Given the description of an element on the screen output the (x, y) to click on. 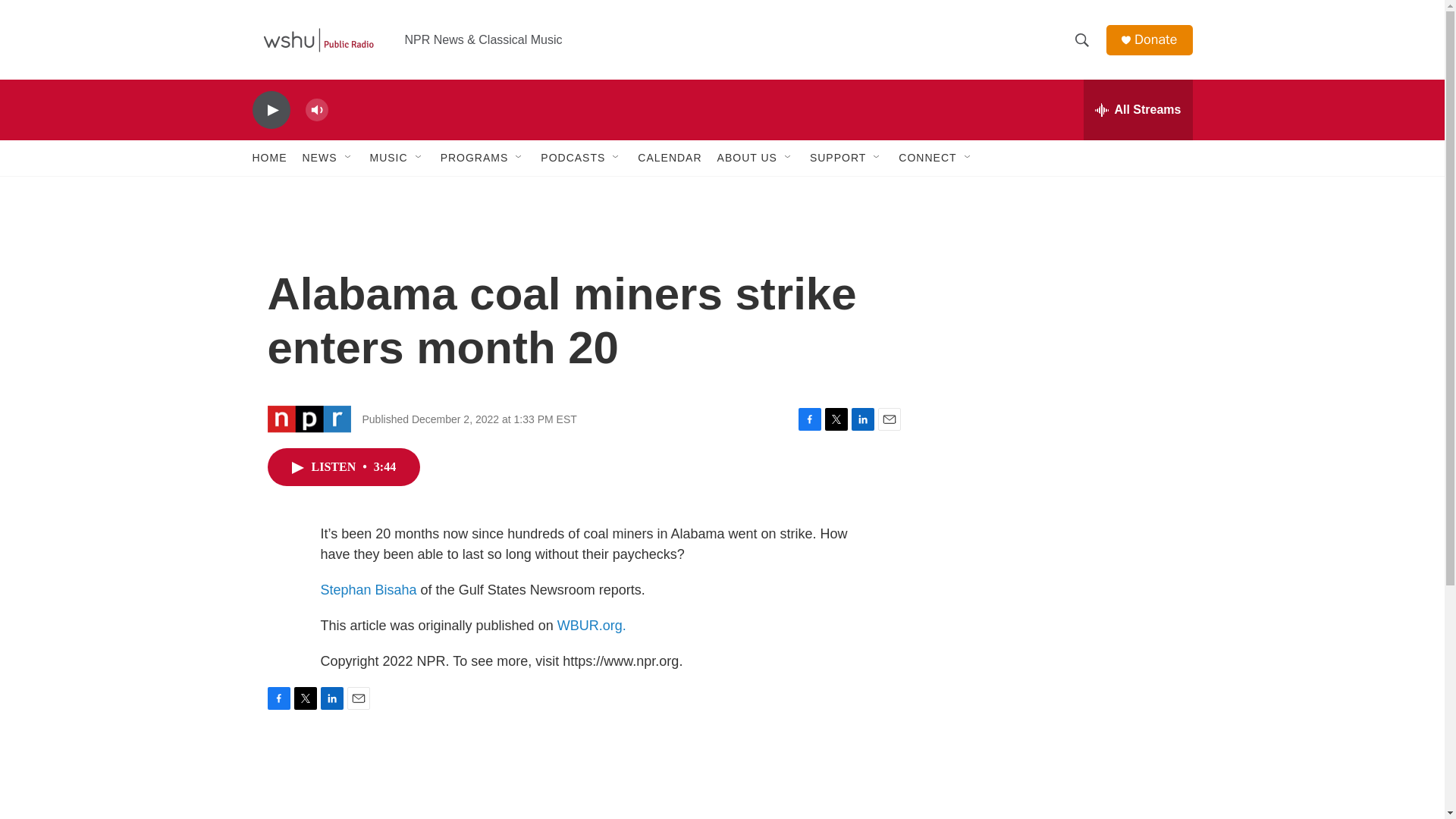
3rd party ad content (1062, 536)
3rd party ad content (1062, 740)
3rd party ad content (1062, 316)
